Given the description of an element on the screen output the (x, y) to click on. 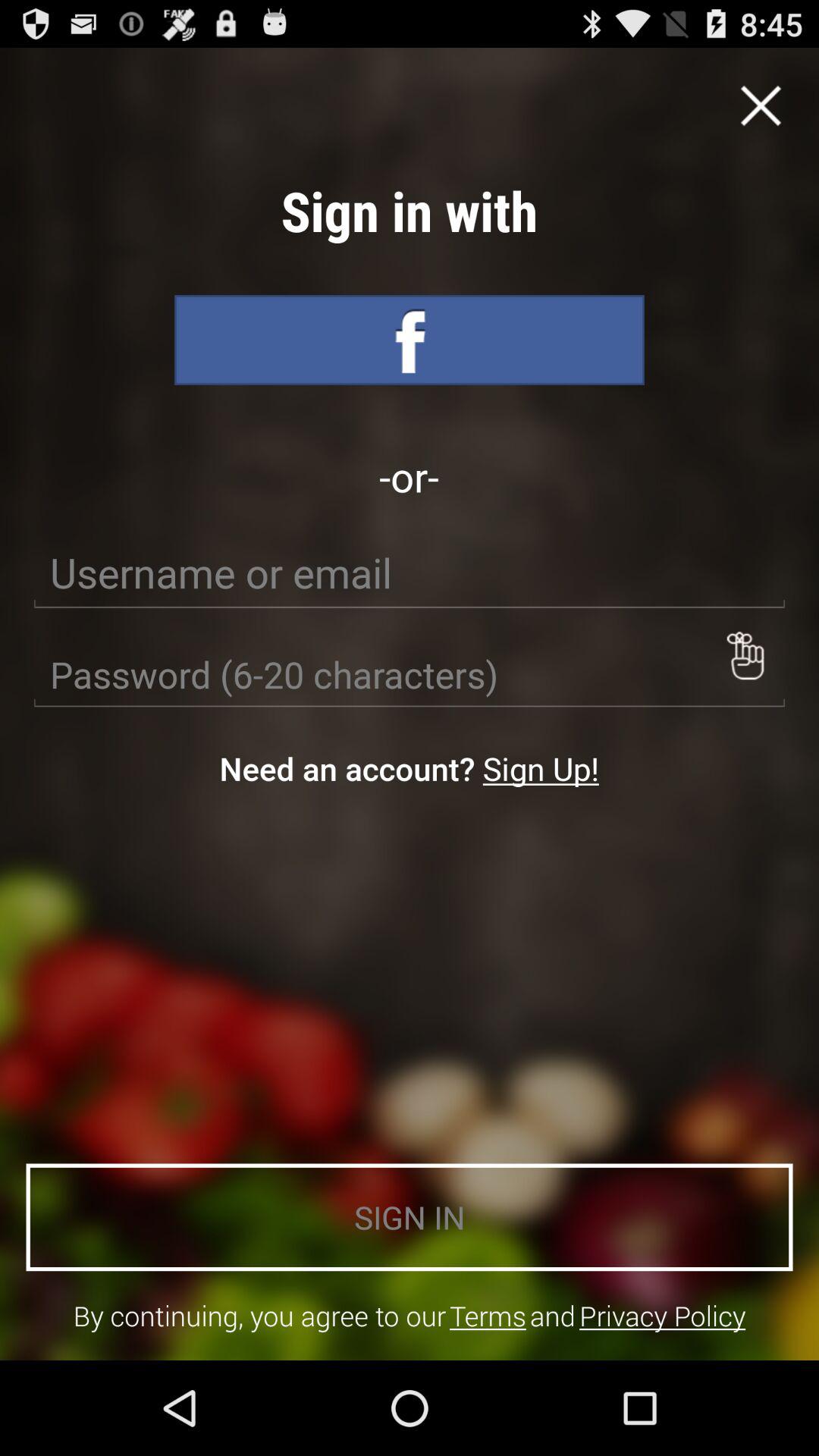
turn on privacy policy (662, 1315)
